Given the description of an element on the screen output the (x, y) to click on. 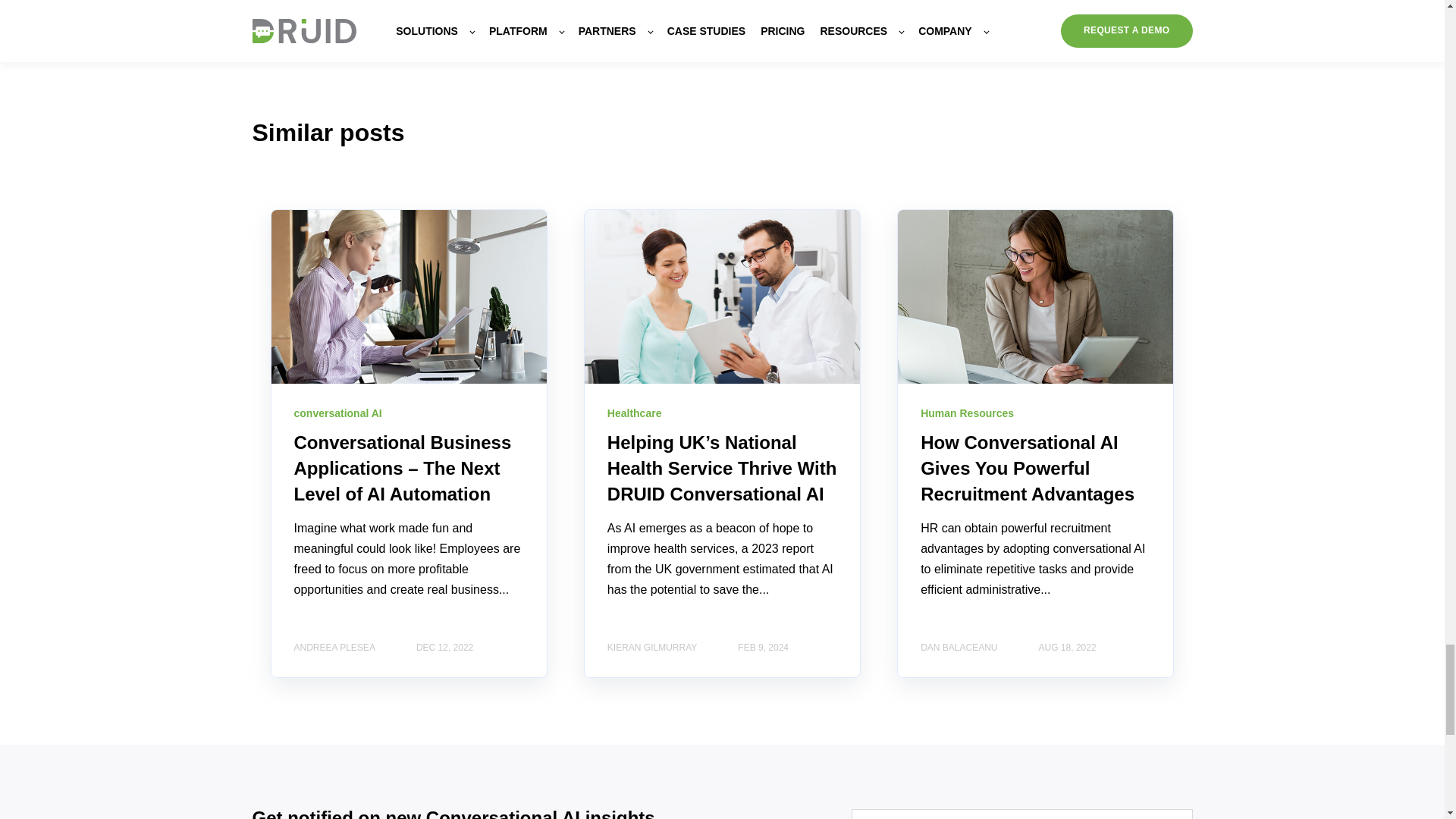
TRY DRUID NOW (722, 9)
